Given the description of an element on the screen output the (x, y) to click on. 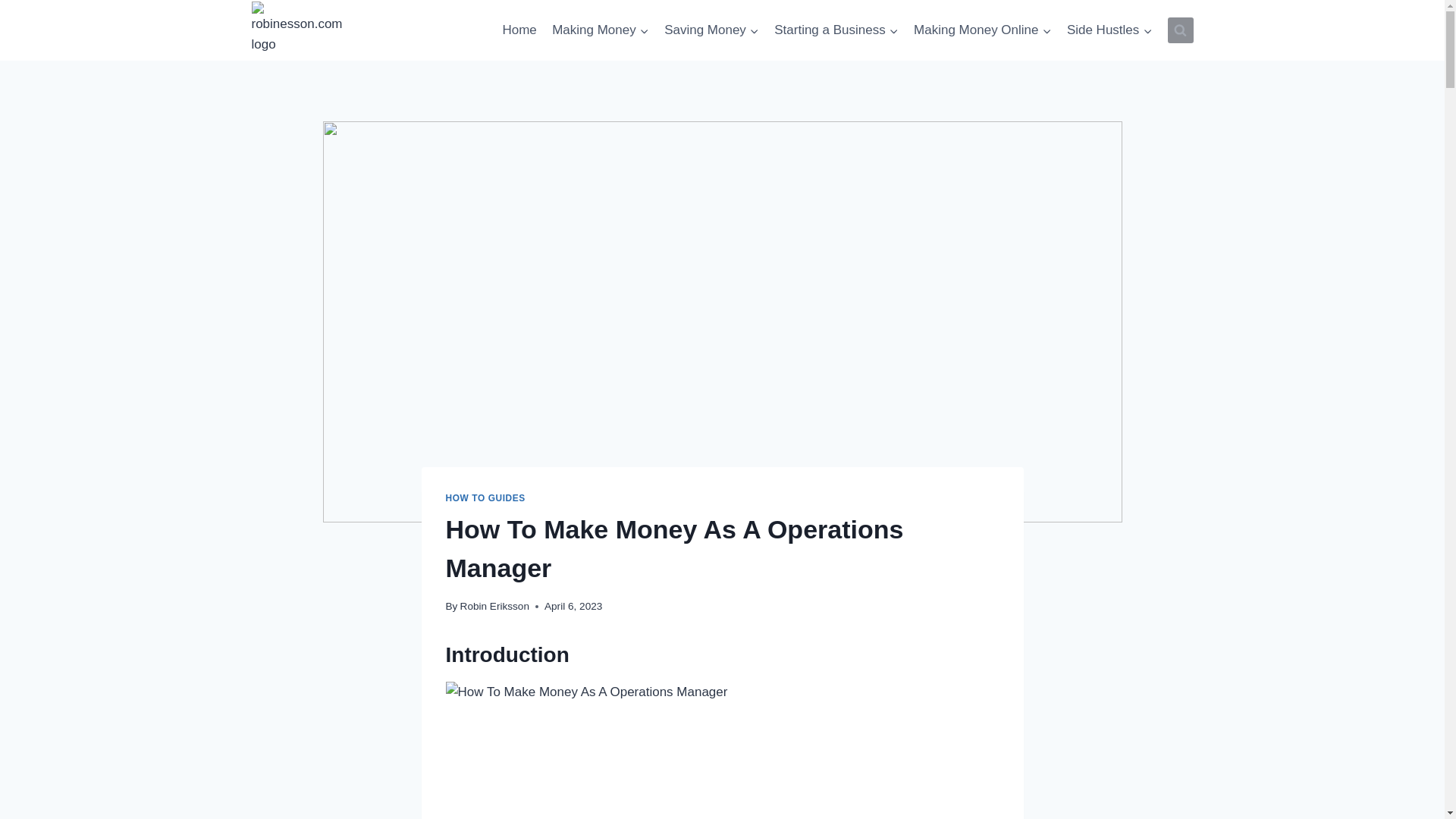
Side Hustles (1109, 30)
How To Make Money As A Operations Manager 2 (721, 750)
Saving Money (711, 30)
Making Money (600, 30)
Starting a Business (836, 30)
Making Money Online (982, 30)
Robin Eriksson (494, 605)
HOW TO GUIDES (485, 498)
Home (519, 30)
